Given the description of an element on the screen output the (x, y) to click on. 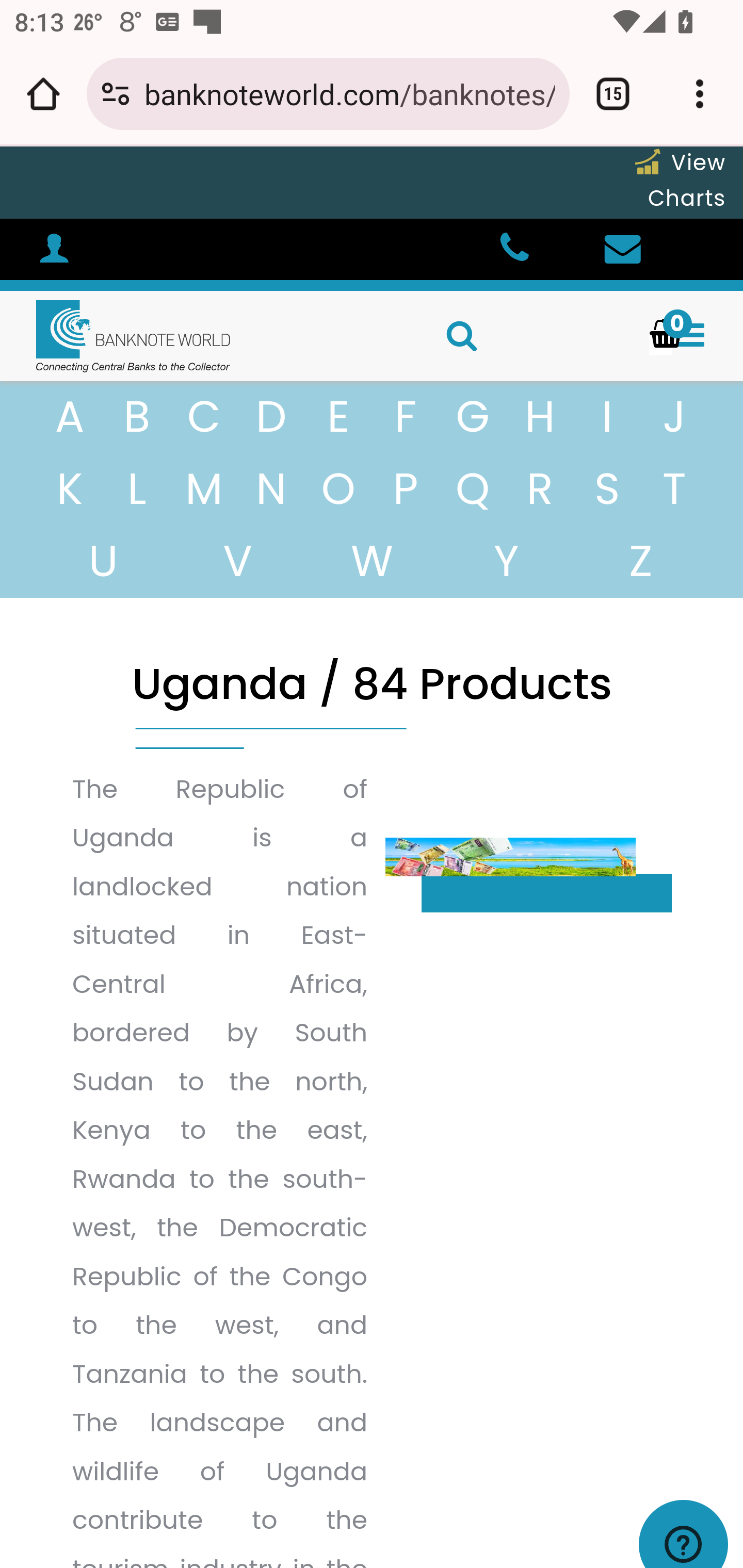
Open the home page (43, 93)
Connection is secure (115, 93)
Switch or close tabs (612, 93)
Customize and control Google Chrome (699, 93)
View Charts (680, 179)
 (631, 248)
# (54, 252)
 SEARCH (539, 339)
Home (115, 336)
